Given the description of an element on the screen output the (x, y) to click on. 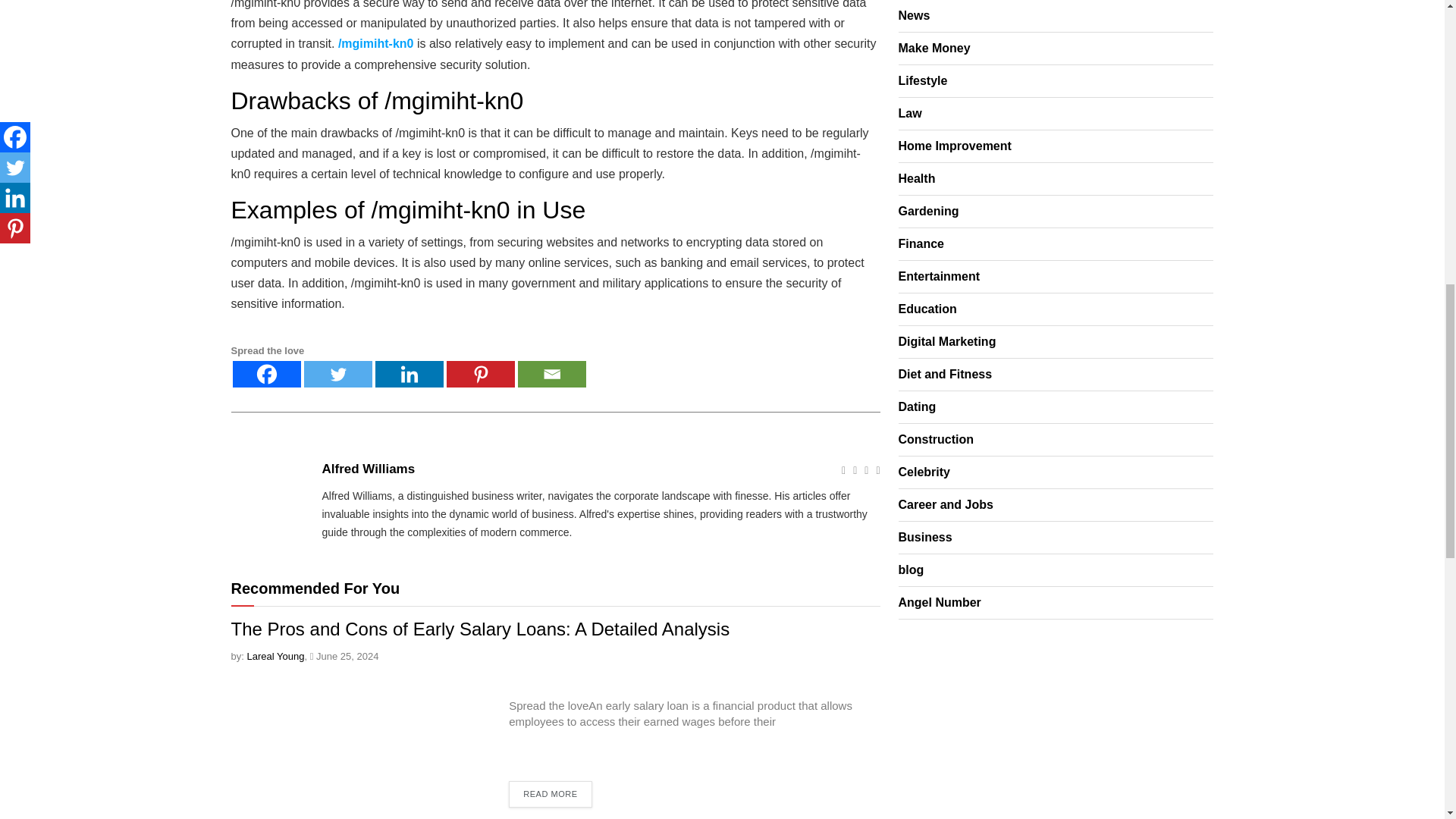
Pinterest (479, 374)
Linkedin (408, 374)
Email (550, 374)
Twitter (336, 374)
Facebook (265, 374)
